Given the description of an element on the screen output the (x, y) to click on. 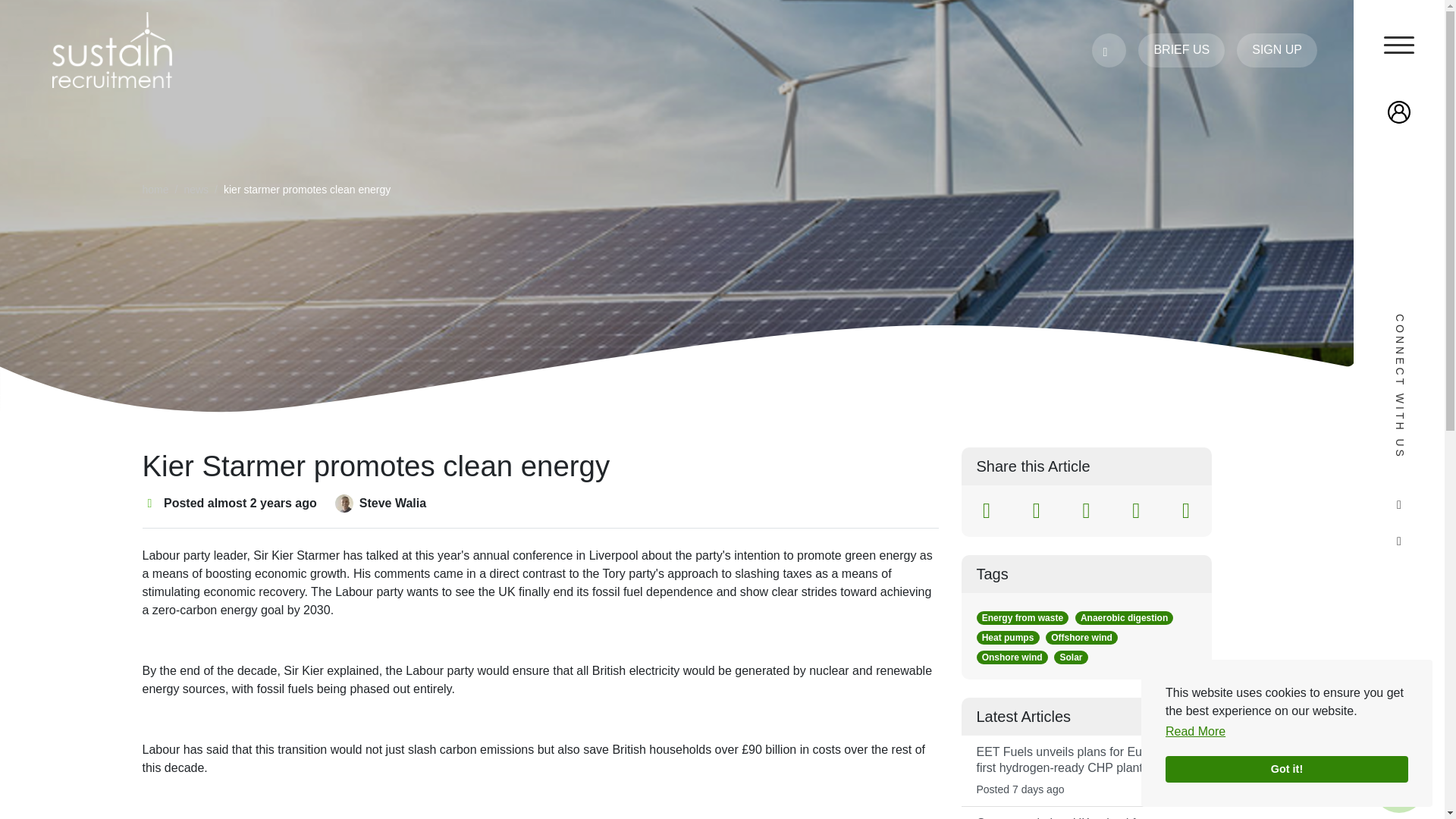
Job Search (1399, 786)
Job Search (1399, 786)
Publish Date (149, 503)
0121 455 9306 (1108, 50)
Anaerobic digestion (1124, 617)
SIGN UP (1276, 50)
news (195, 190)
Author (343, 503)
Got it! (1272, 769)
Energy from waste (1022, 617)
BRIEF US (1181, 50)
Read More (1195, 734)
home (155, 190)
